Given the description of an element on the screen output the (x, y) to click on. 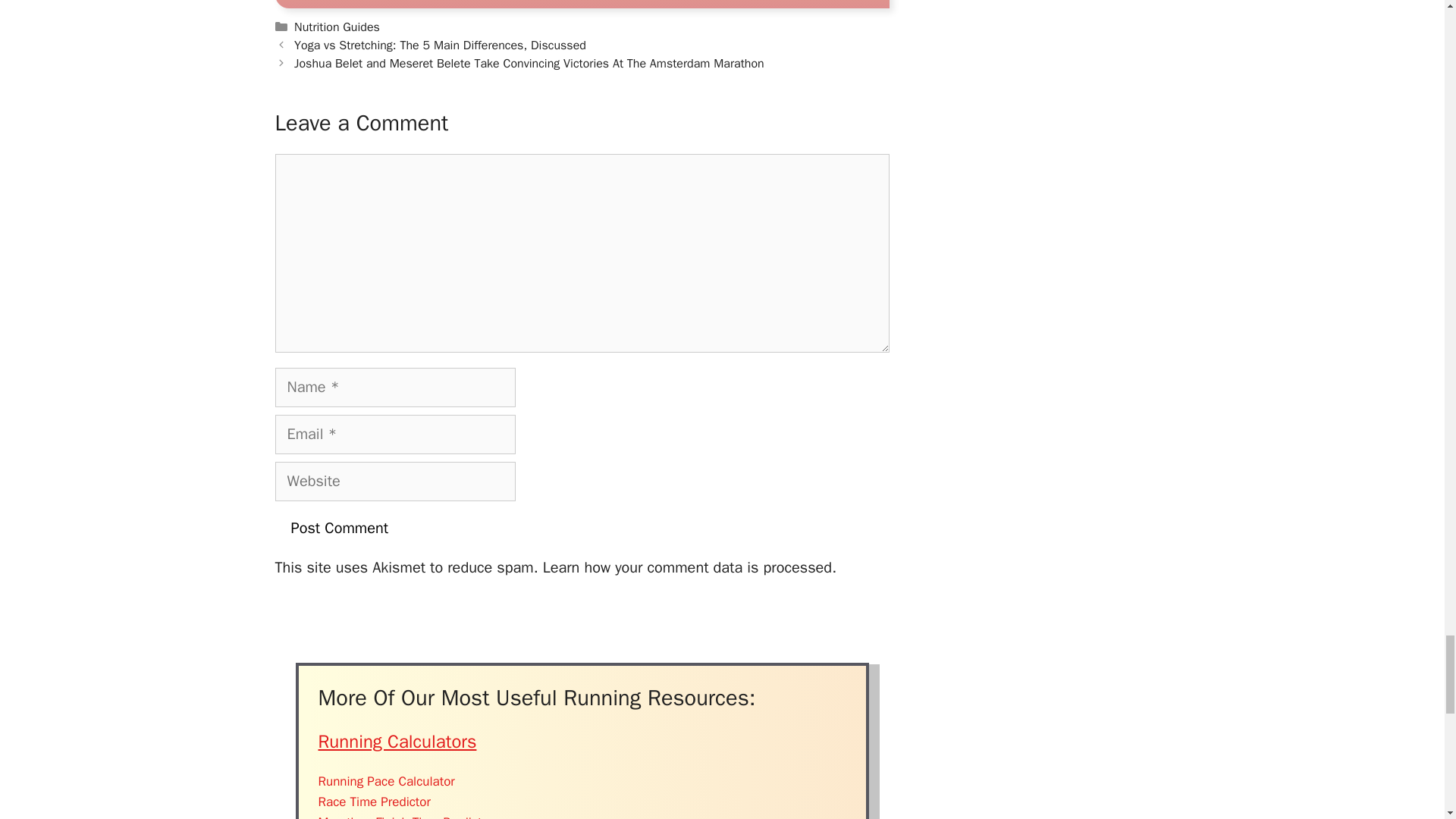
Post Comment (339, 527)
